Given the description of an element on the screen output the (x, y) to click on. 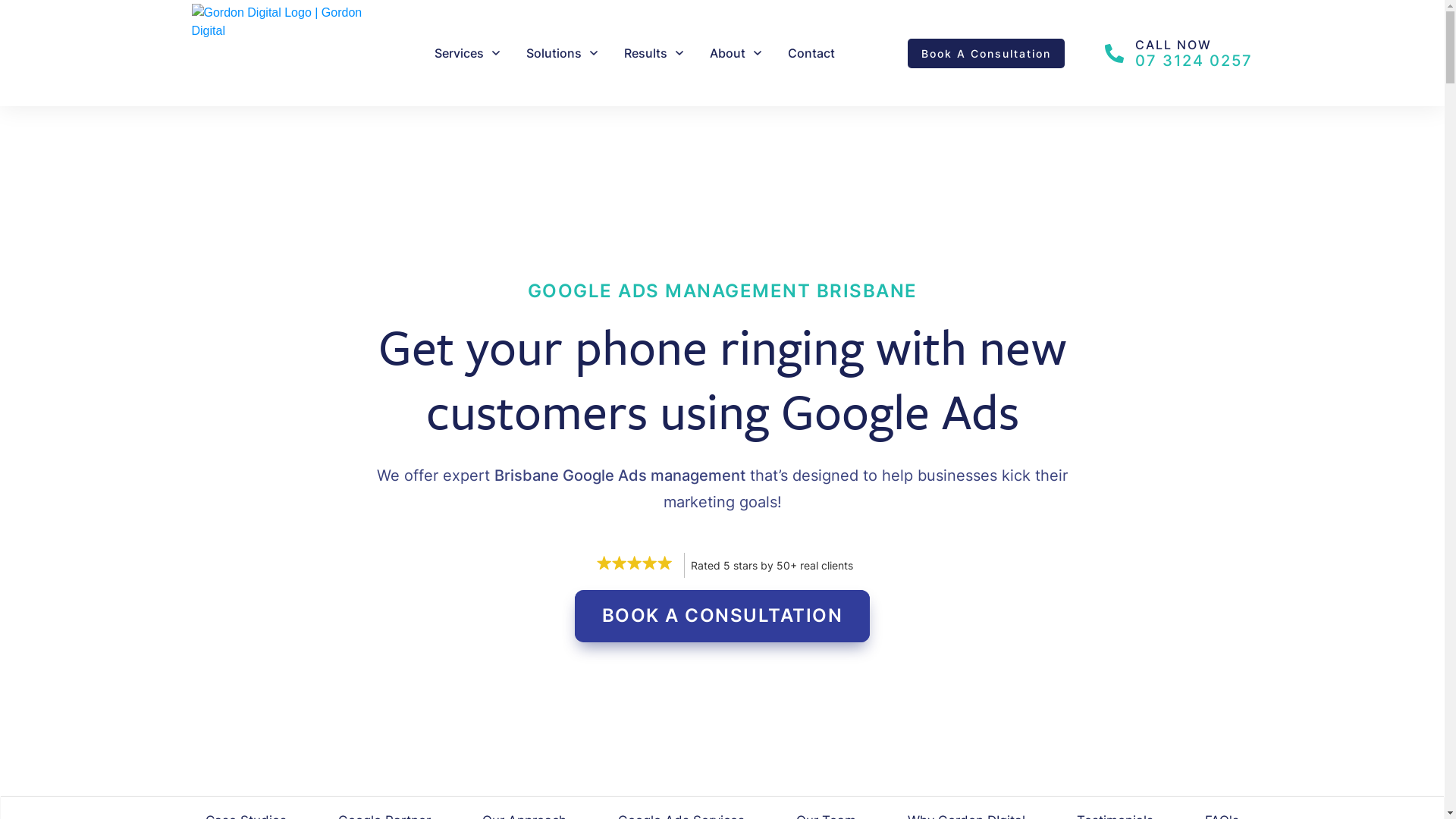
5 Element type: hover (722, 725)
Services Element type: text (468, 52)
9 Element type: hover (564, 725)
3 Element type: hover (247, 725)
1 Element type: hover (881, 725)
Solutions Element type: text (562, 52)
CALL NOW
07 3124 0257 Element type: text (1178, 52)
7 Element type: hover (1198, 725)
BOOK A CONSULTATION Element type: text (722, 615)
4 Element type: hover (1039, 725)
Book A Consultation Element type: text (985, 52)
Results Element type: text (654, 52)
Contact Element type: text (810, 52)
About Element type: text (736, 52)
1 Element type: hover (405, 725)
